Given the description of an element on the screen output the (x, y) to click on. 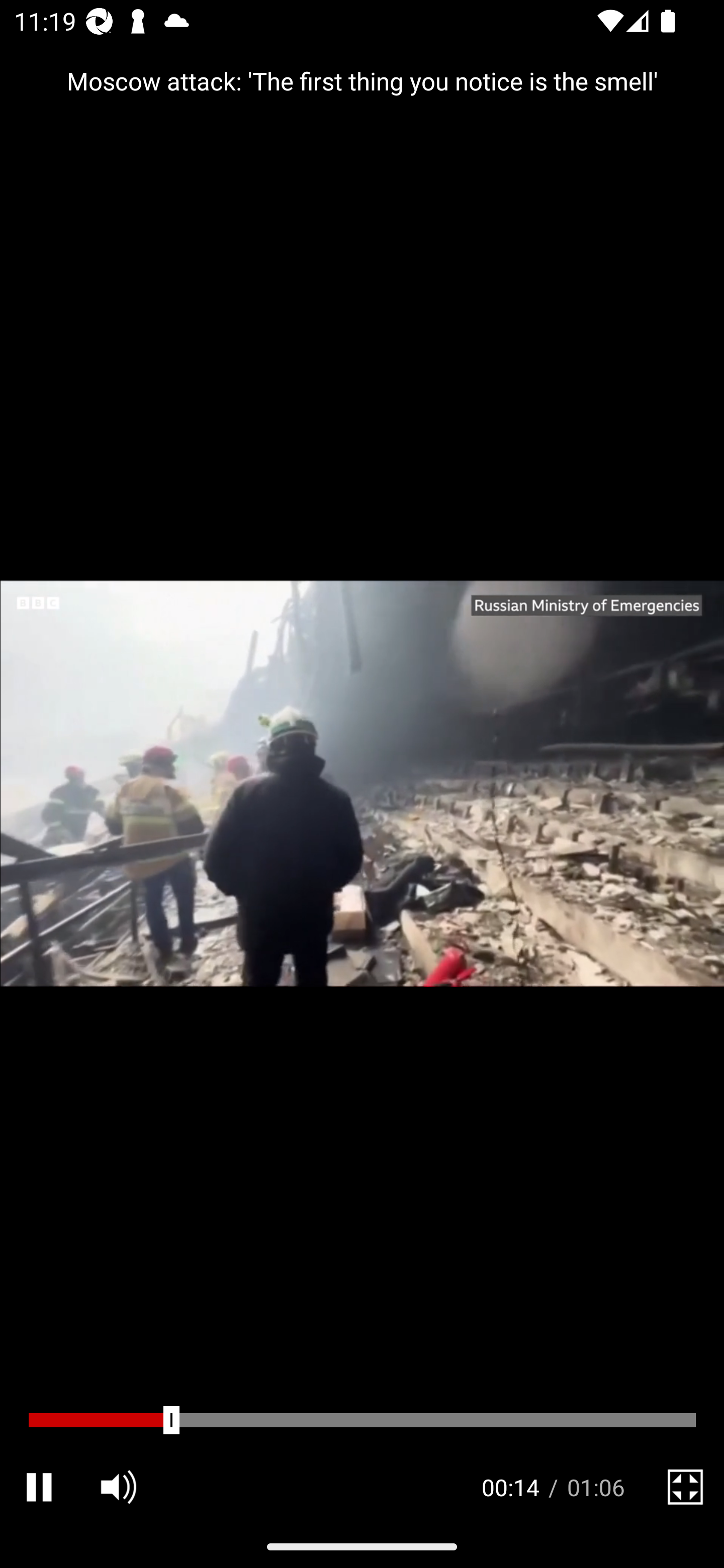
volume (118, 1486)
exit fullscreen (685, 1486)
